Given the description of an element on the screen output the (x, y) to click on. 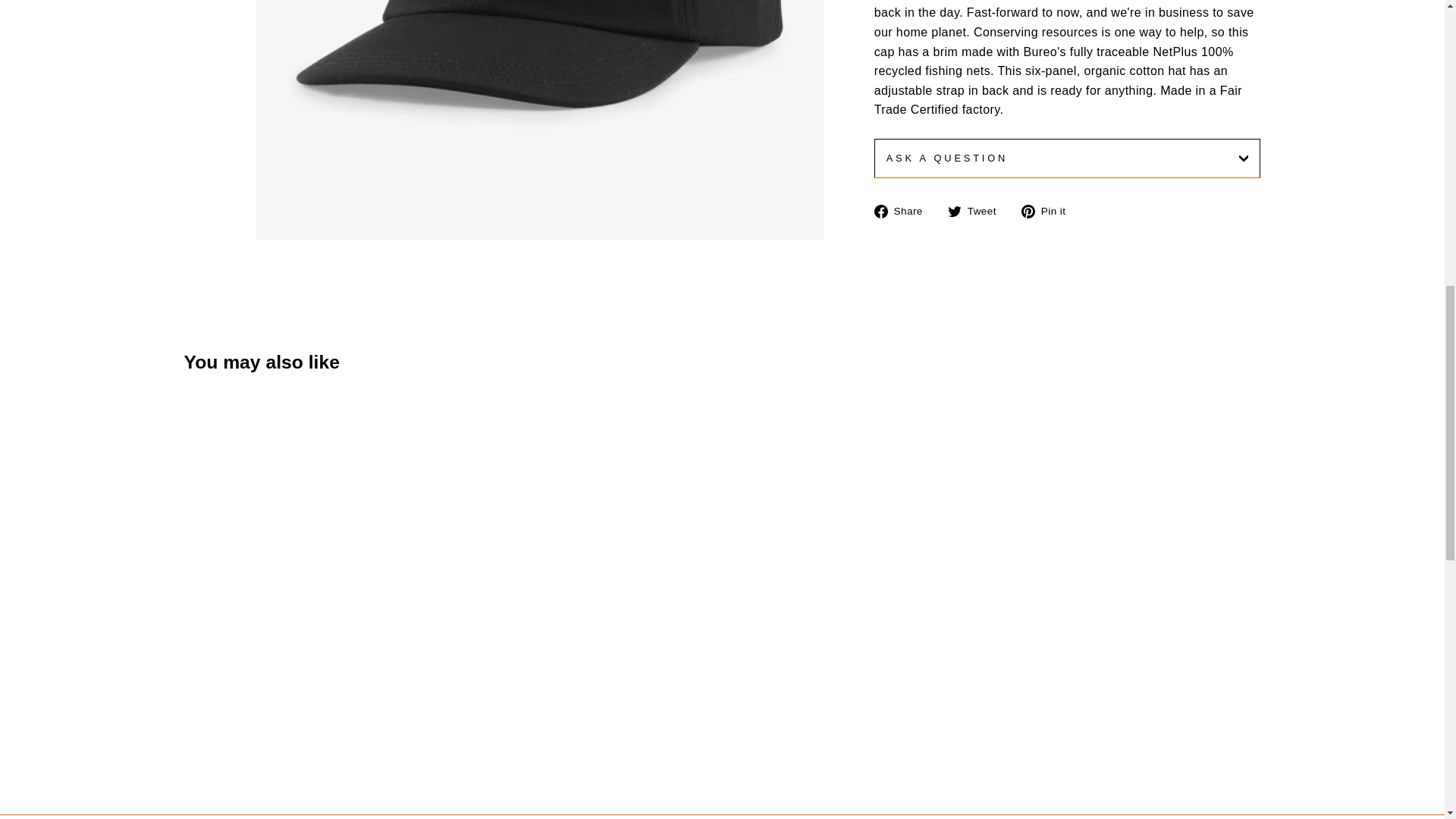
Pin on Pinterest (1049, 210)
Share on Facebook (904, 210)
twitter (953, 211)
Tweet on Twitter (977, 210)
